Given the description of an element on the screen output the (x, y) to click on. 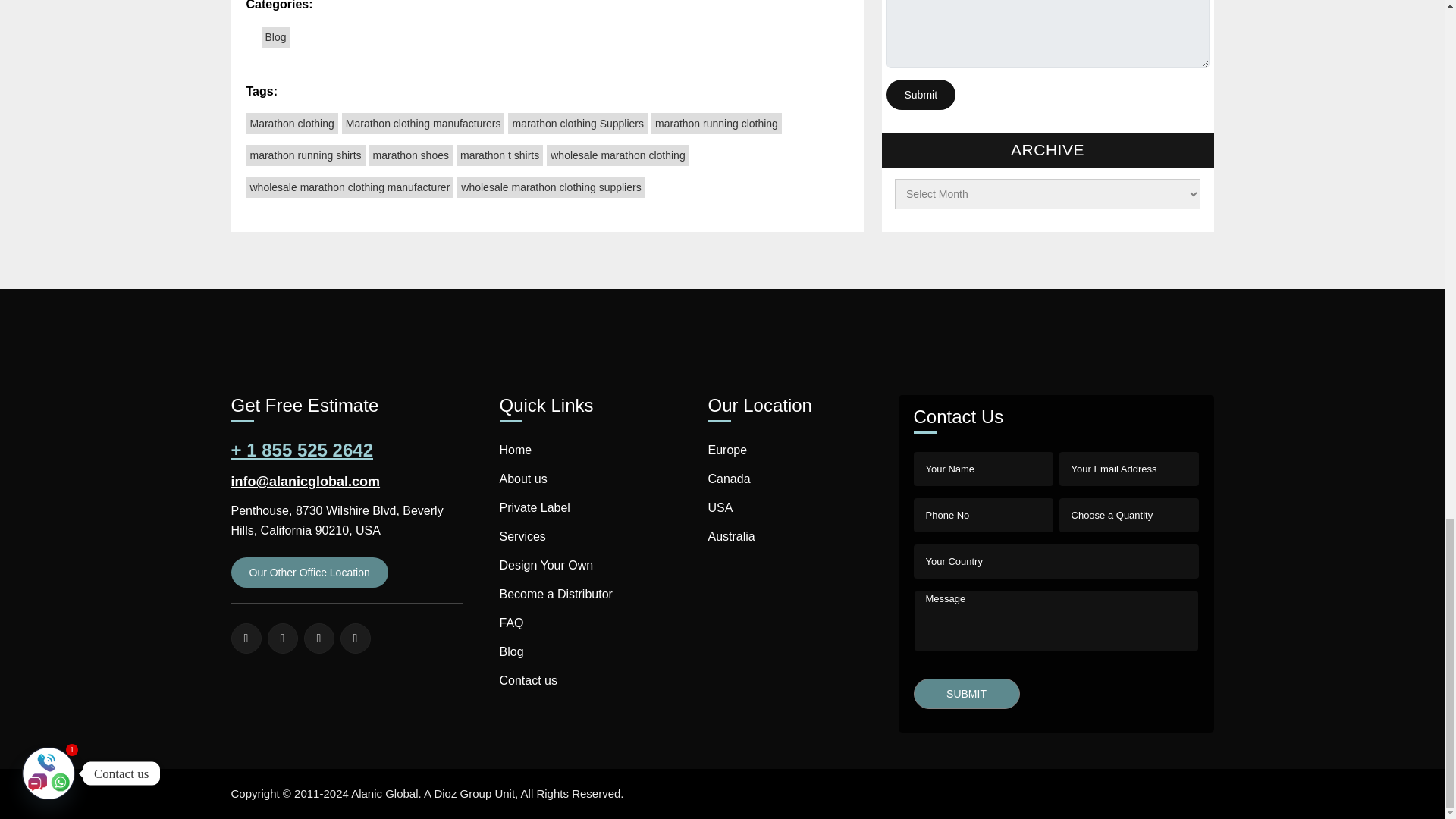
submit (967, 693)
